Given the description of an element on the screen output the (x, y) to click on. 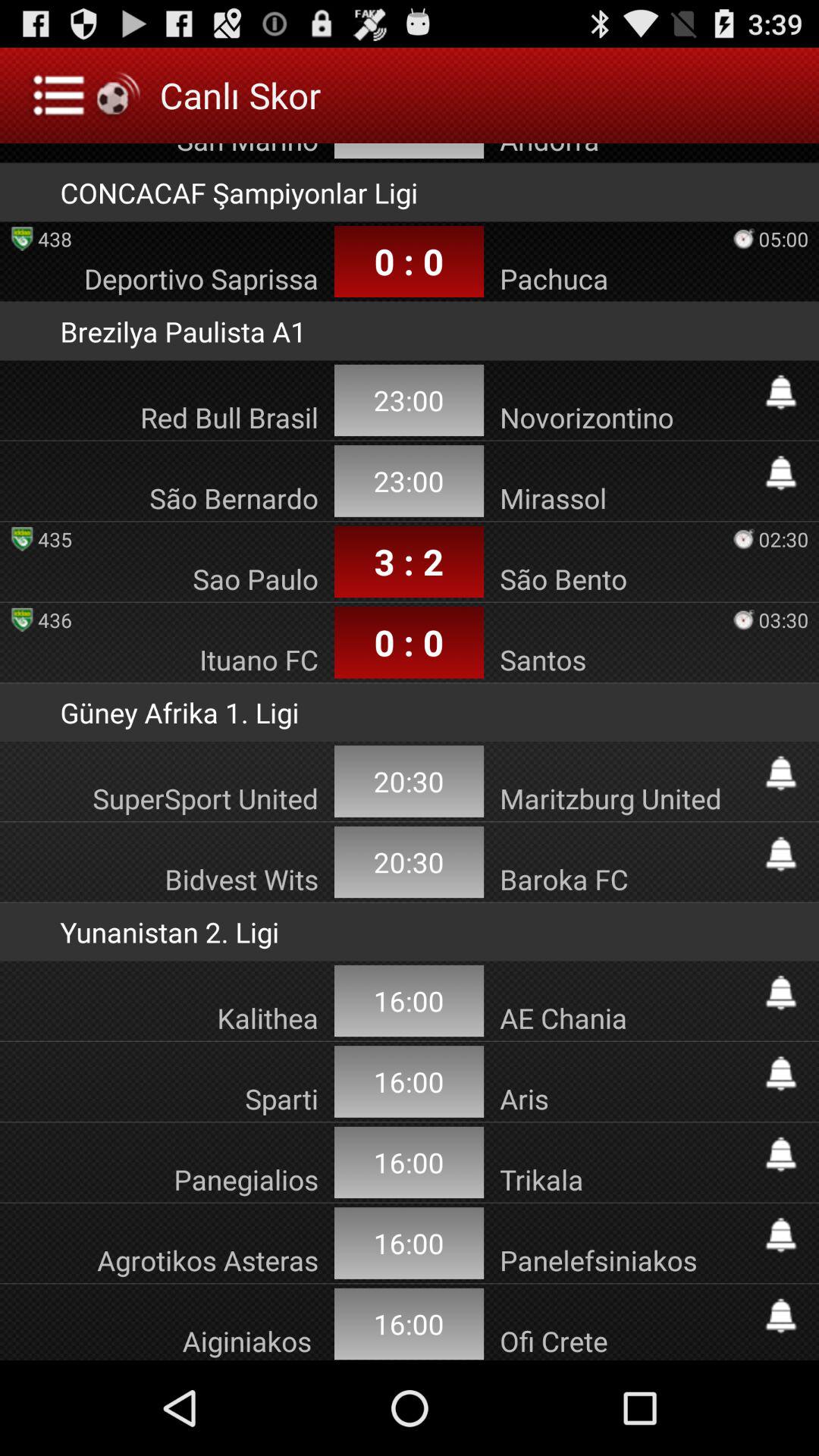
bell image (780, 992)
